Given the description of an element on the screen output the (x, y) to click on. 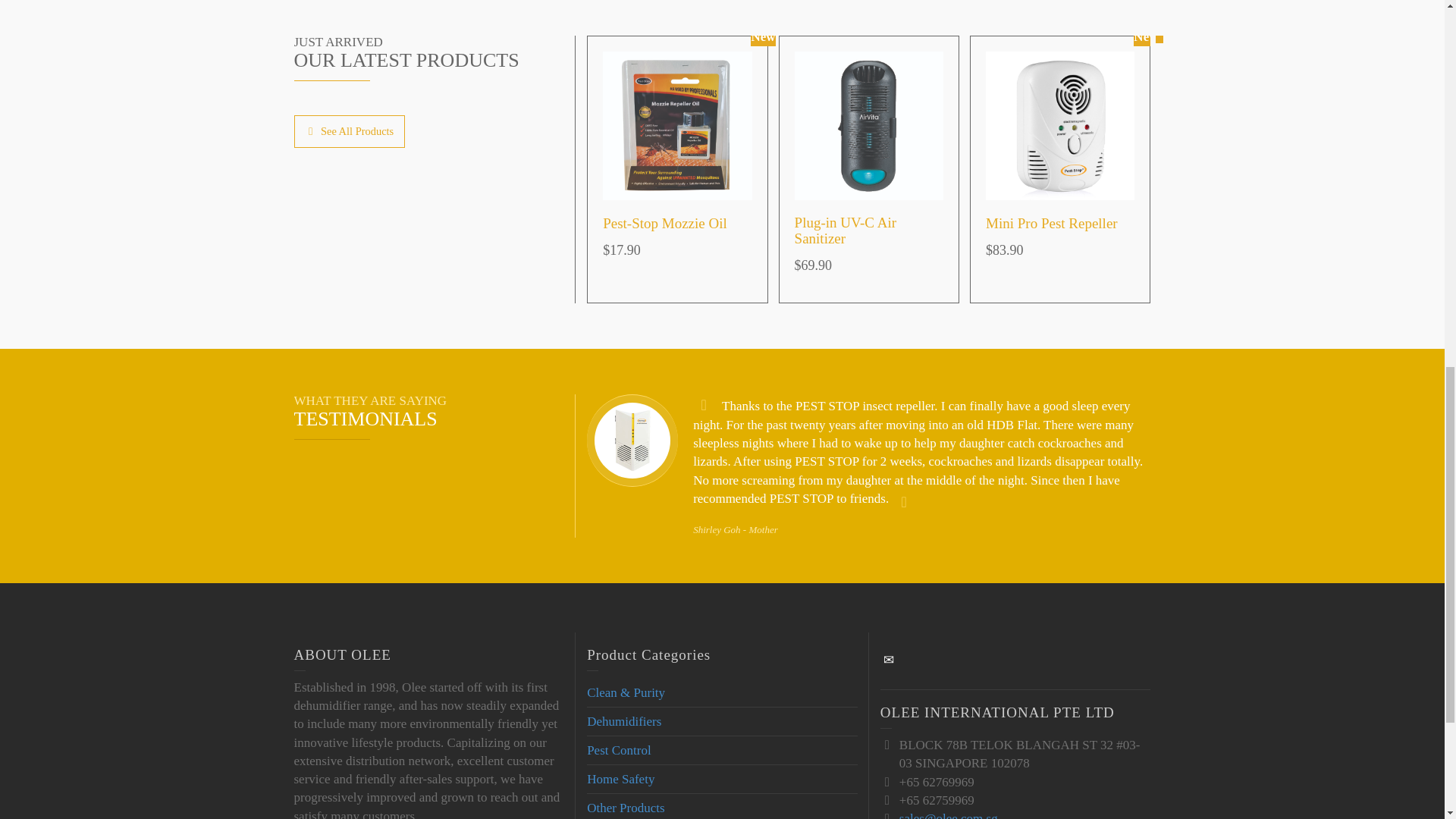
Pest-Stop Mozzie Oil (664, 222)
Other Products (624, 807)
Mini Pro Pest Repeller (1051, 222)
Home Safety (619, 779)
Plug-in UV-C Air Sanitizer (845, 230)
See All Products (350, 131)
Dehumidifiers (623, 721)
Pest Control (618, 749)
